Given the description of an element on the screen output the (x, y) to click on. 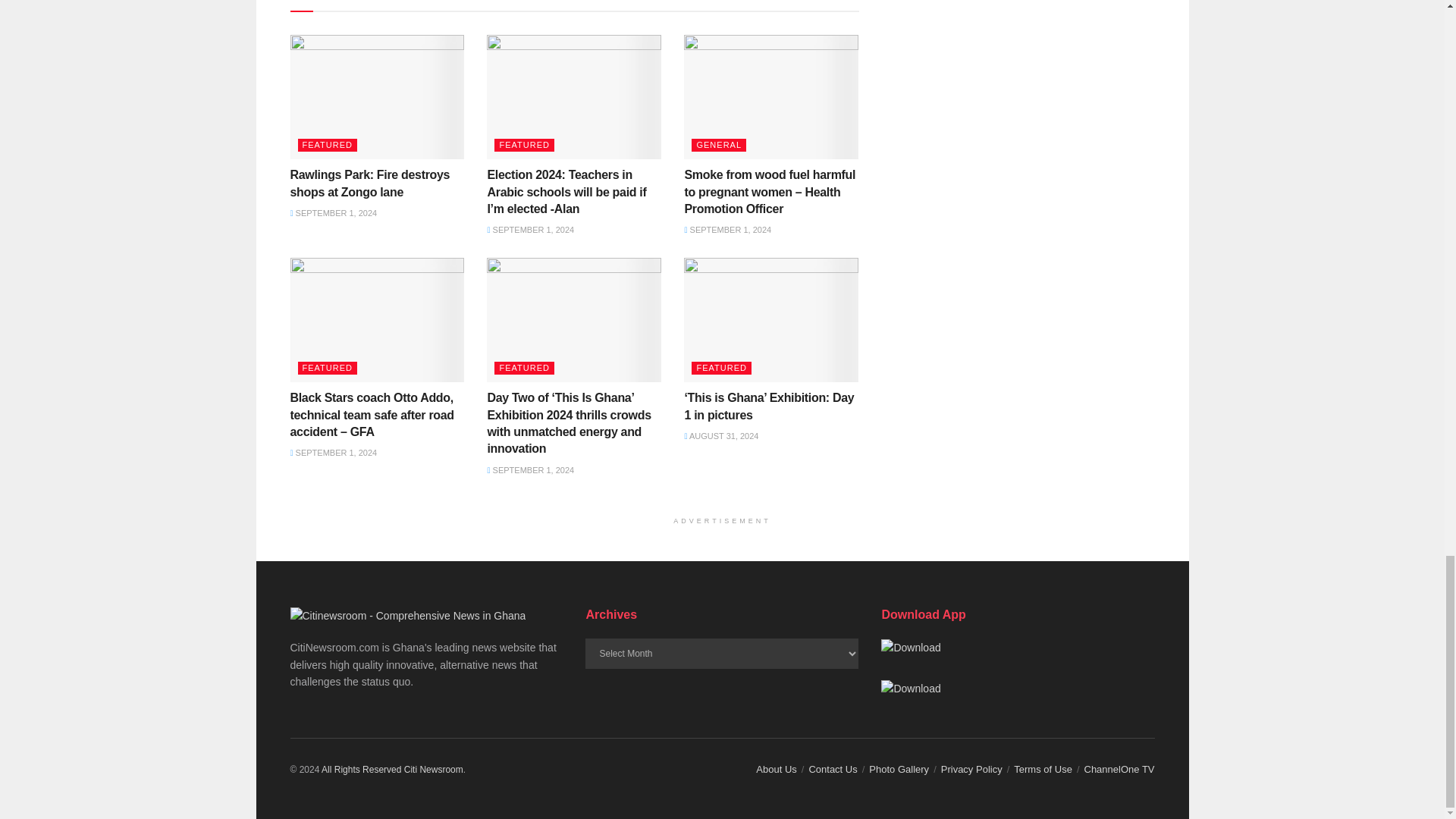
App Store (910, 688)
Citi Newsroom (361, 769)
Google Play (910, 647)
Citi Newsroom (433, 769)
